Given the description of an element on the screen output the (x, y) to click on. 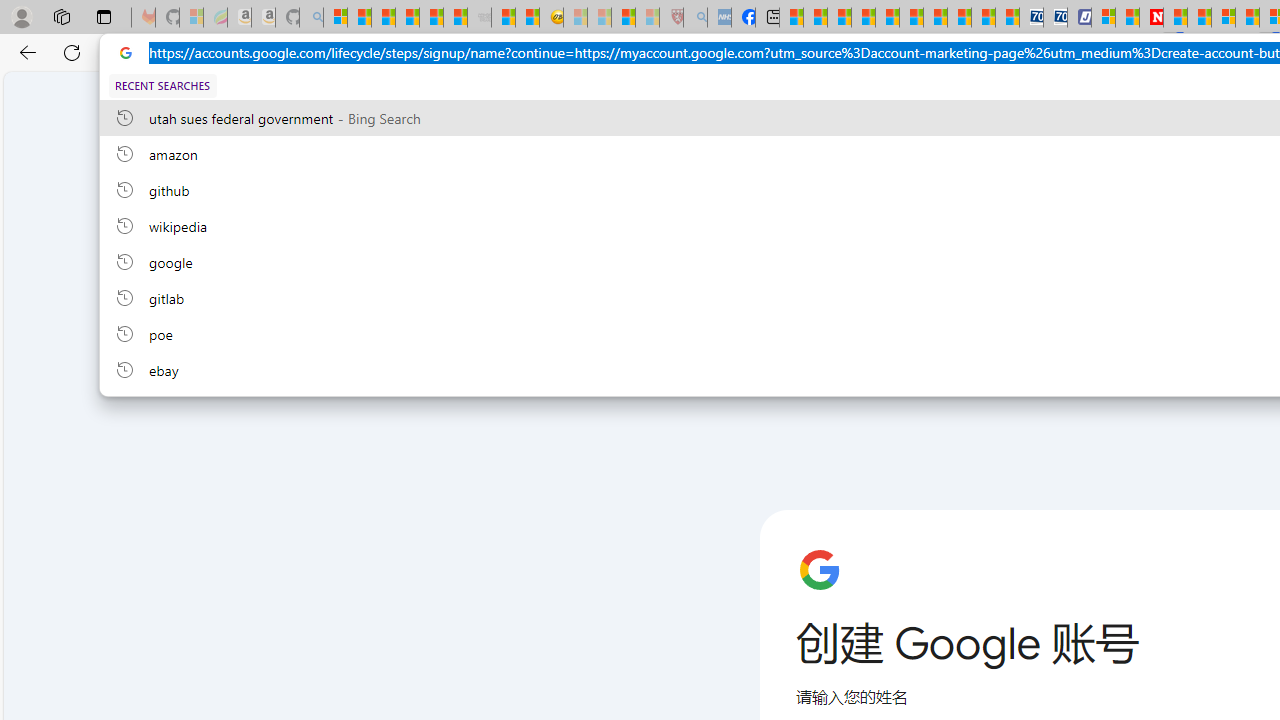
Latest Politics News & Archive | Newsweek.com (1151, 17)
